Given the description of an element on the screen output the (x, y) to click on. 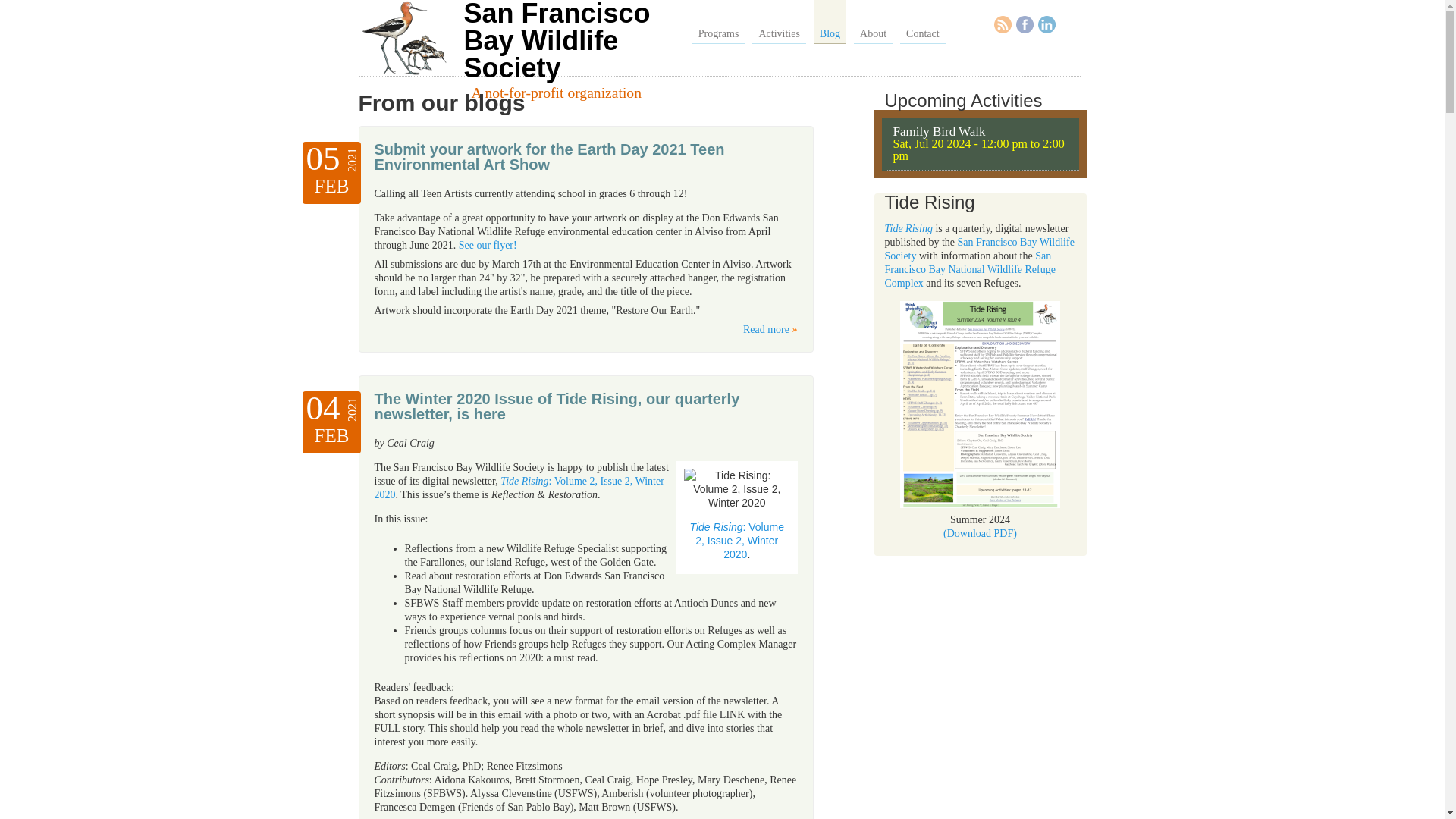
Programs at the Wildlife Society (719, 22)
Activities (778, 22)
Subscribe to our RSS feed (1002, 24)
Get the latest news! (829, 22)
Activities for the current month (778, 22)
About Us (872, 22)
Contact Us (921, 22)
RSS (1002, 24)
San Francisco Bay Wildlife Society (556, 41)
Join our Facebook page (1024, 24)
Facebook (1024, 24)
Programs (719, 22)
Home (556, 41)
About (872, 22)
